Given the description of an element on the screen output the (x, y) to click on. 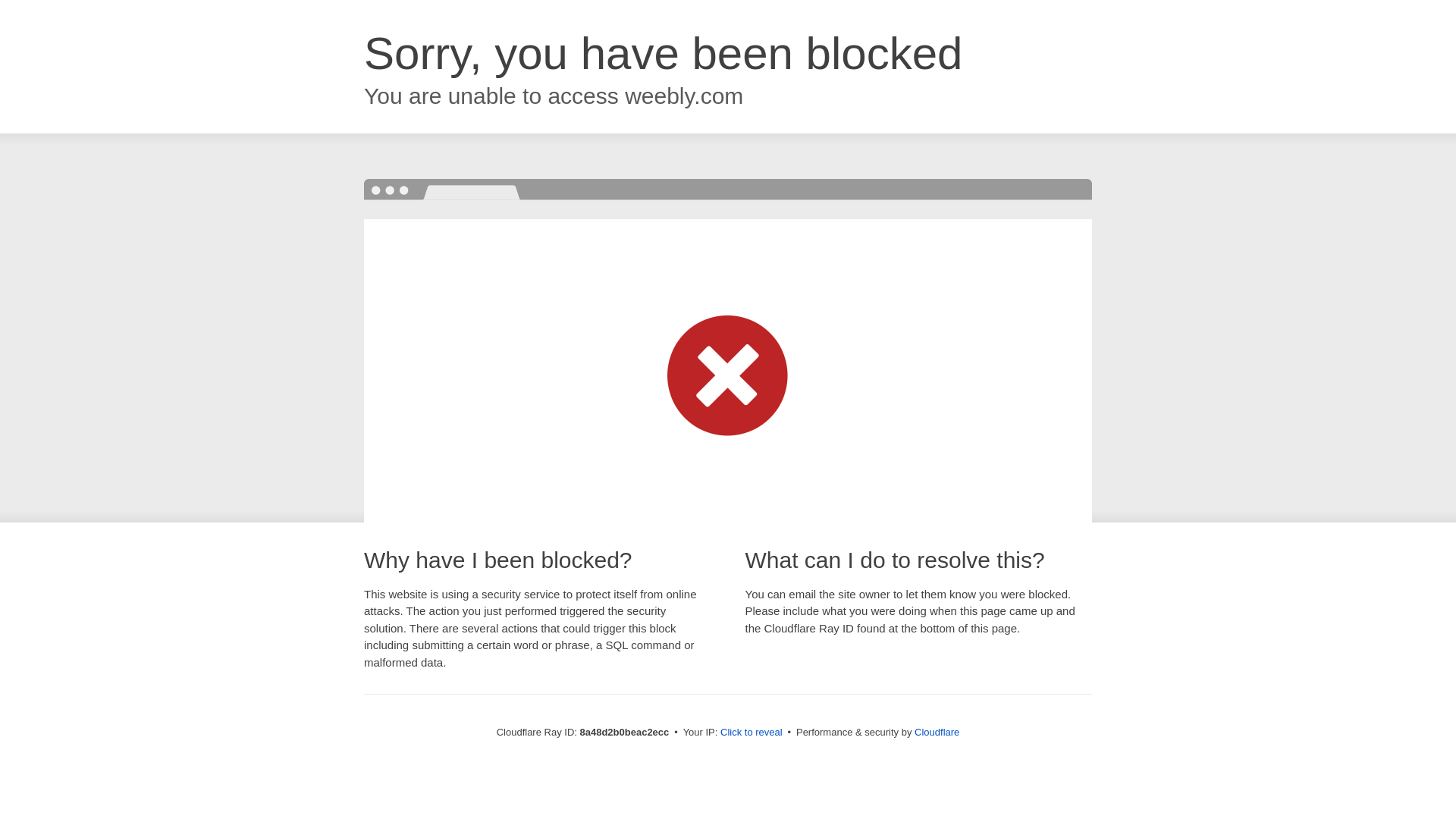
Click to reveal (751, 732)
Cloudflare (936, 731)
